Given the description of an element on the screen output the (x, y) to click on. 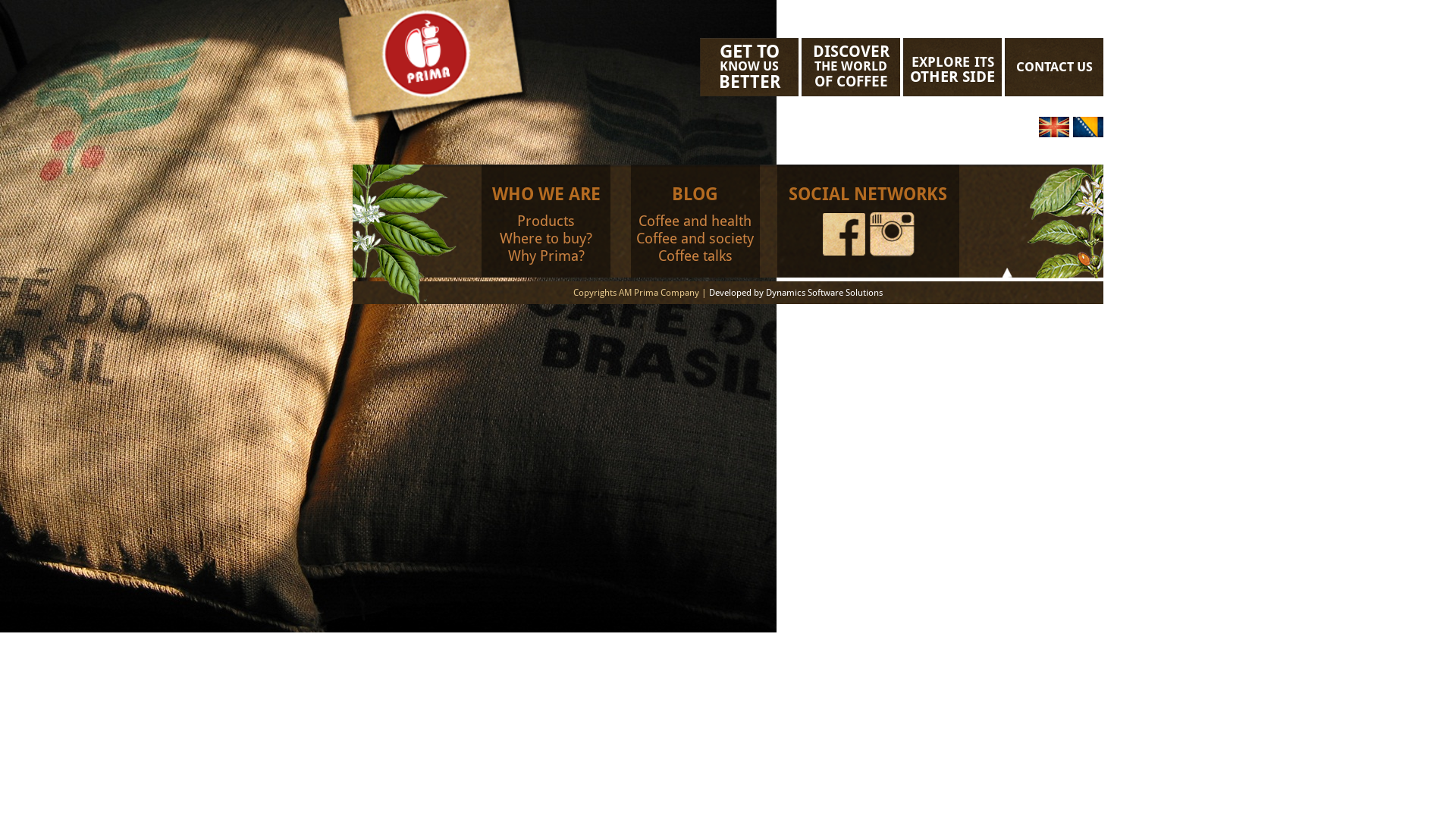
GET TO
KNOW US
BETTER Element type: text (748, 66)
DISCOVER
THE WORLD
OF COFFEE Element type: text (850, 66)
CONTACT US Element type: text (1053, 66)
Products Element type: text (545, 220)
Coffee and health Element type: text (694, 220)
Why Prima? Element type: text (545, 255)
Coffee and society Element type: text (694, 238)
Where to buy? Element type: text (545, 238)
EXPLORE ITS
OTHER SIDE Element type: text (952, 66)
Developed by Dynamics Software Solutions Element type: text (795, 292)
Coffee talks Element type: text (694, 255)
